Given the description of an element on the screen output the (x, y) to click on. 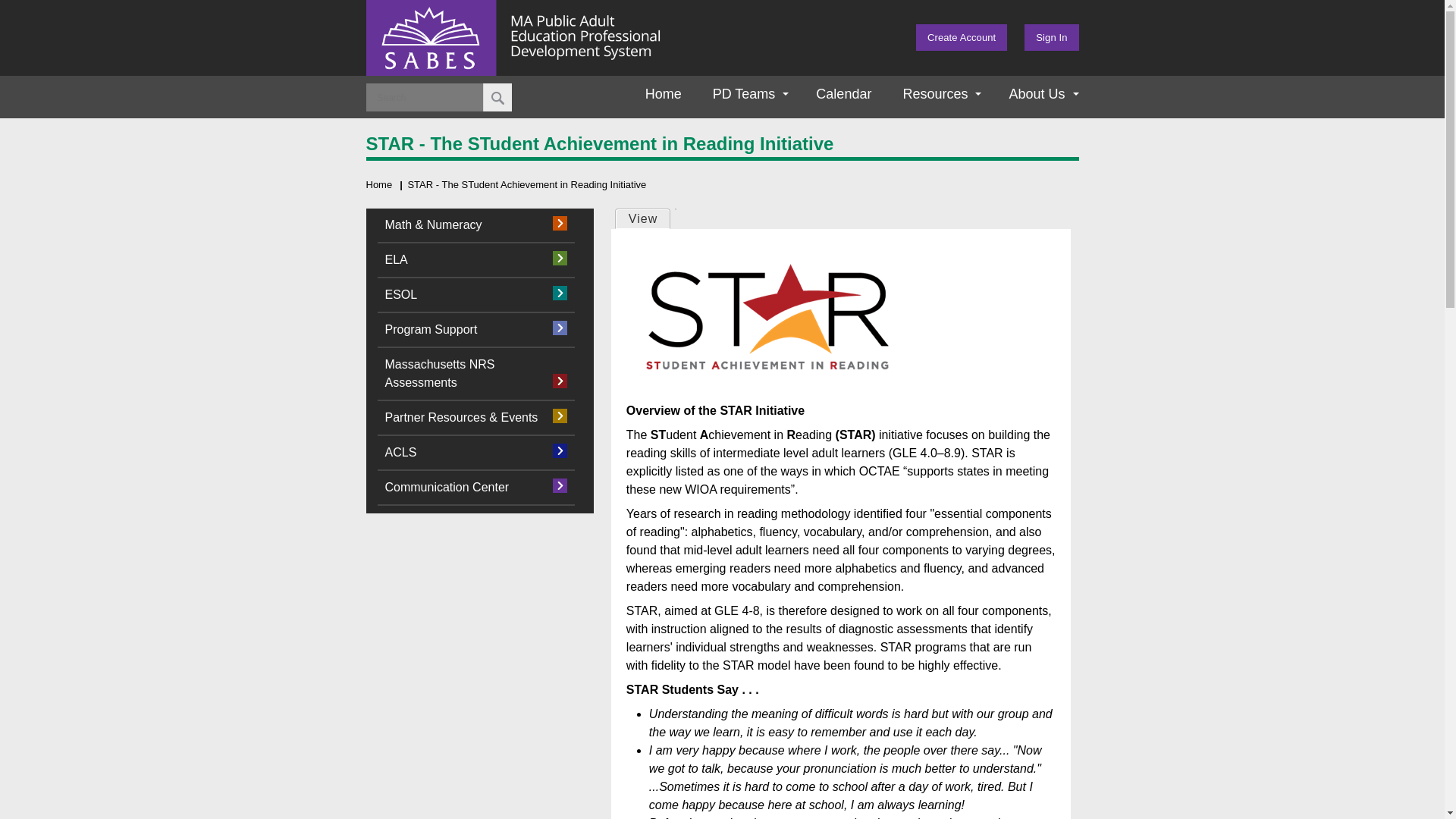
Home (378, 184)
Resources (933, 94)
Calendar (837, 94)
Search (497, 97)
Search (497, 97)
Sign In (1051, 37)
Home (555, 65)
Home (657, 94)
Create Account (961, 37)
